Given the description of an element on the screen output the (x, y) to click on. 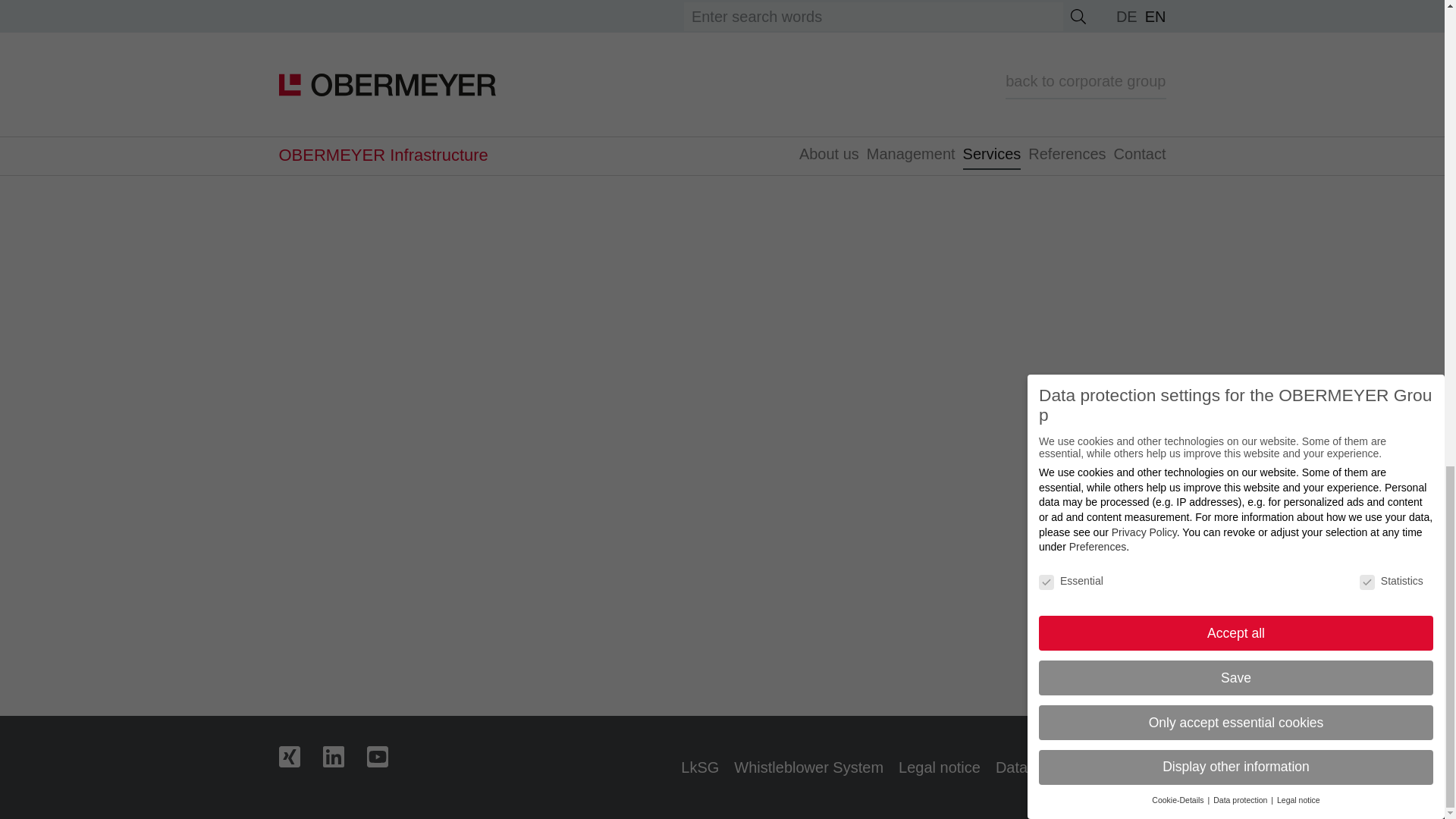
Legal notice (938, 767)
Data protection (1047, 767)
LkSG (700, 767)
Whistleblower System (808, 767)
Quality management is ISO 9001 certified by DQS (612, 767)
Follow OBERMEYER at YouTube (388, 755)
Follow OBERMEYER at XING (301, 755)
Follow OBERMEYER at LinkedIn (344, 755)
